Given the description of an element on the screen output the (x, y) to click on. 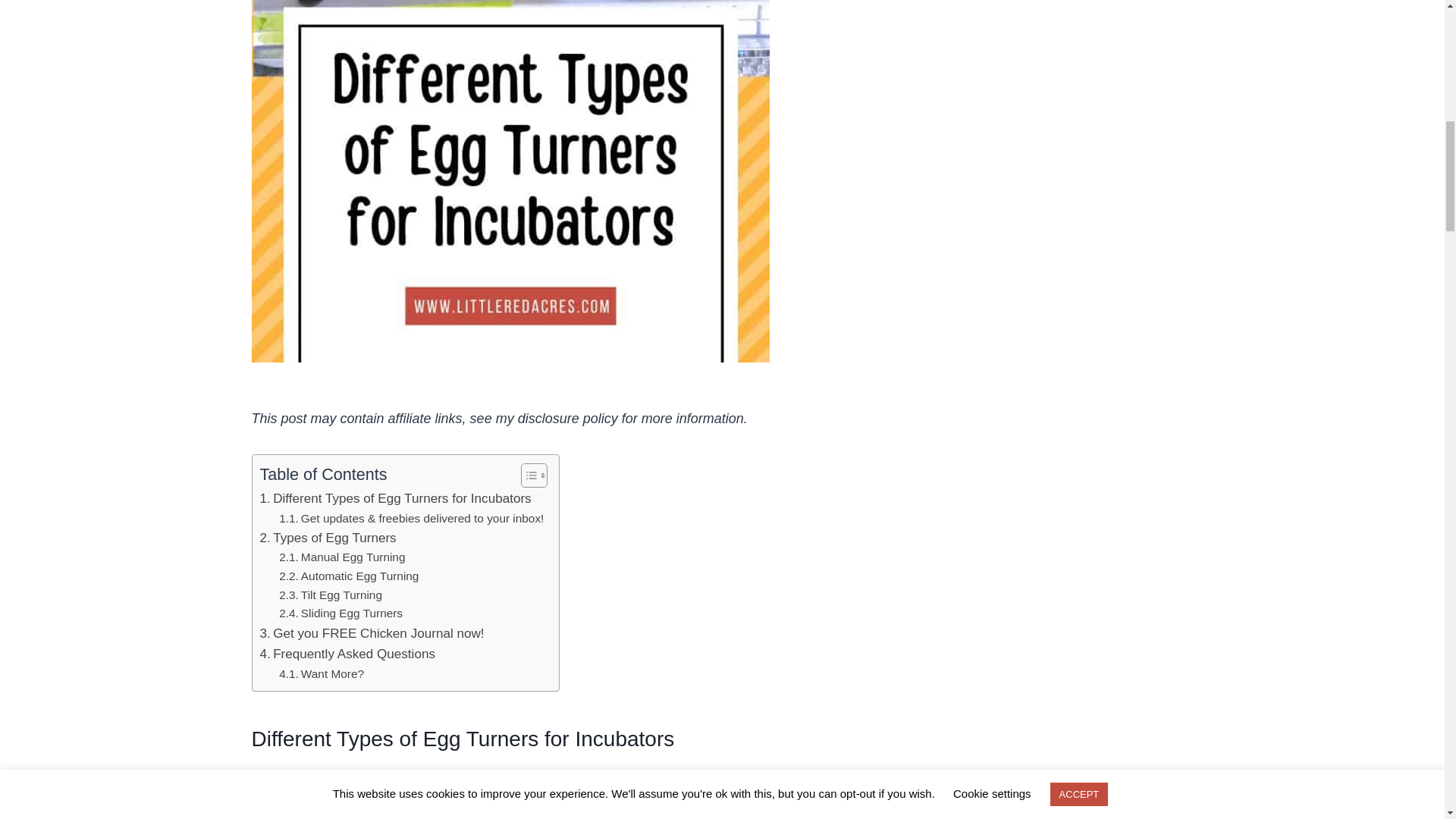
Types of Egg Turners (327, 537)
Want More? (321, 674)
Sliding Egg Turners (341, 613)
Types of Egg Turners (327, 537)
Automatic Egg Turning (349, 576)
Tilt Egg Turning (330, 595)
Manual Egg Turning (341, 557)
Different Types of Egg Turners for Incubators (395, 498)
Get you FREE Chicken Journal now! (371, 633)
Frequently Asked Questions (346, 653)
